Given the description of an element on the screen output the (x, y) to click on. 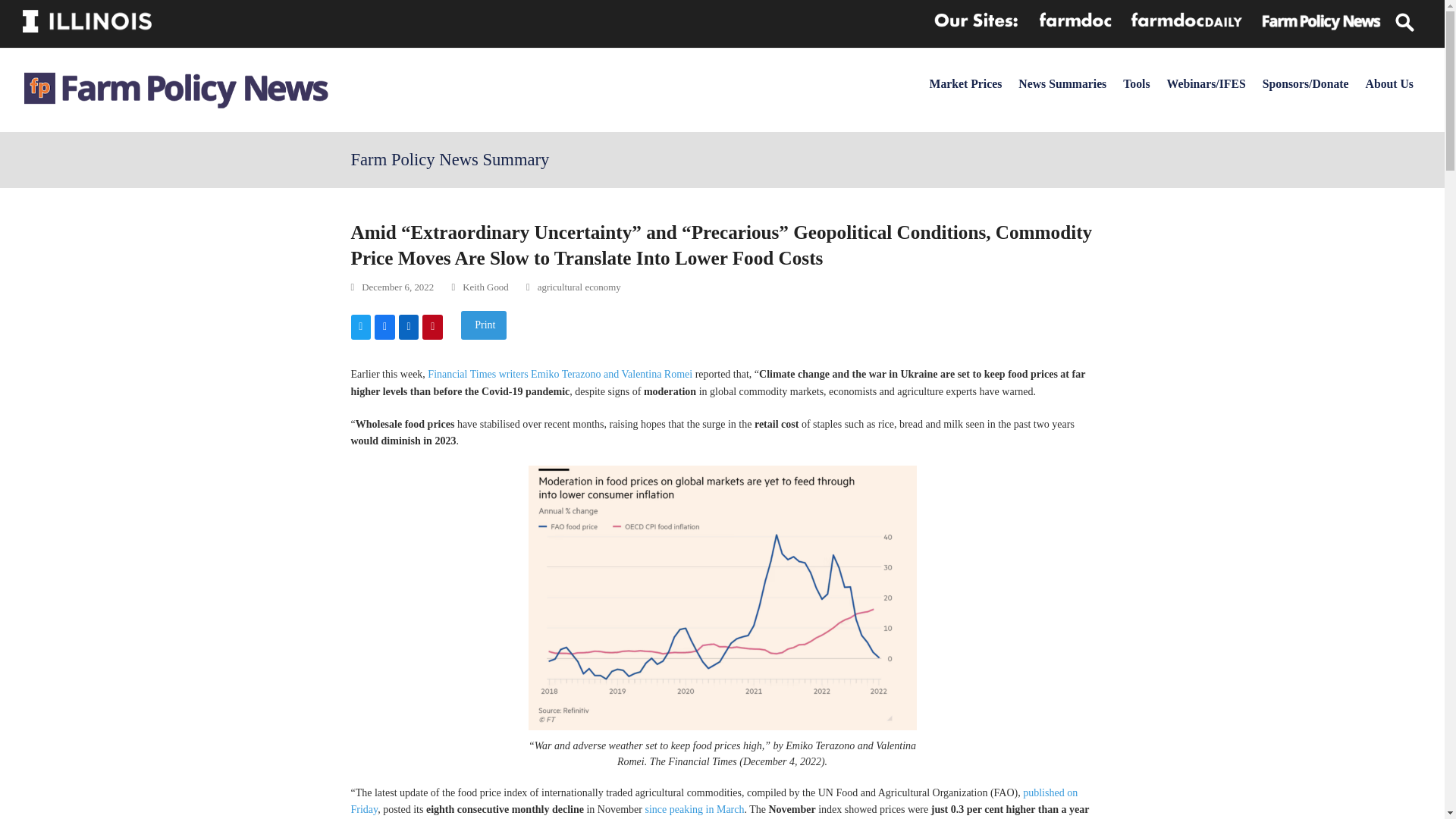
Posts by Keith Good (485, 286)
Print (483, 325)
Market Prices (965, 84)
Tools (1136, 84)
News Summaries (1062, 84)
